Given the description of an element on the screen output the (x, y) to click on. 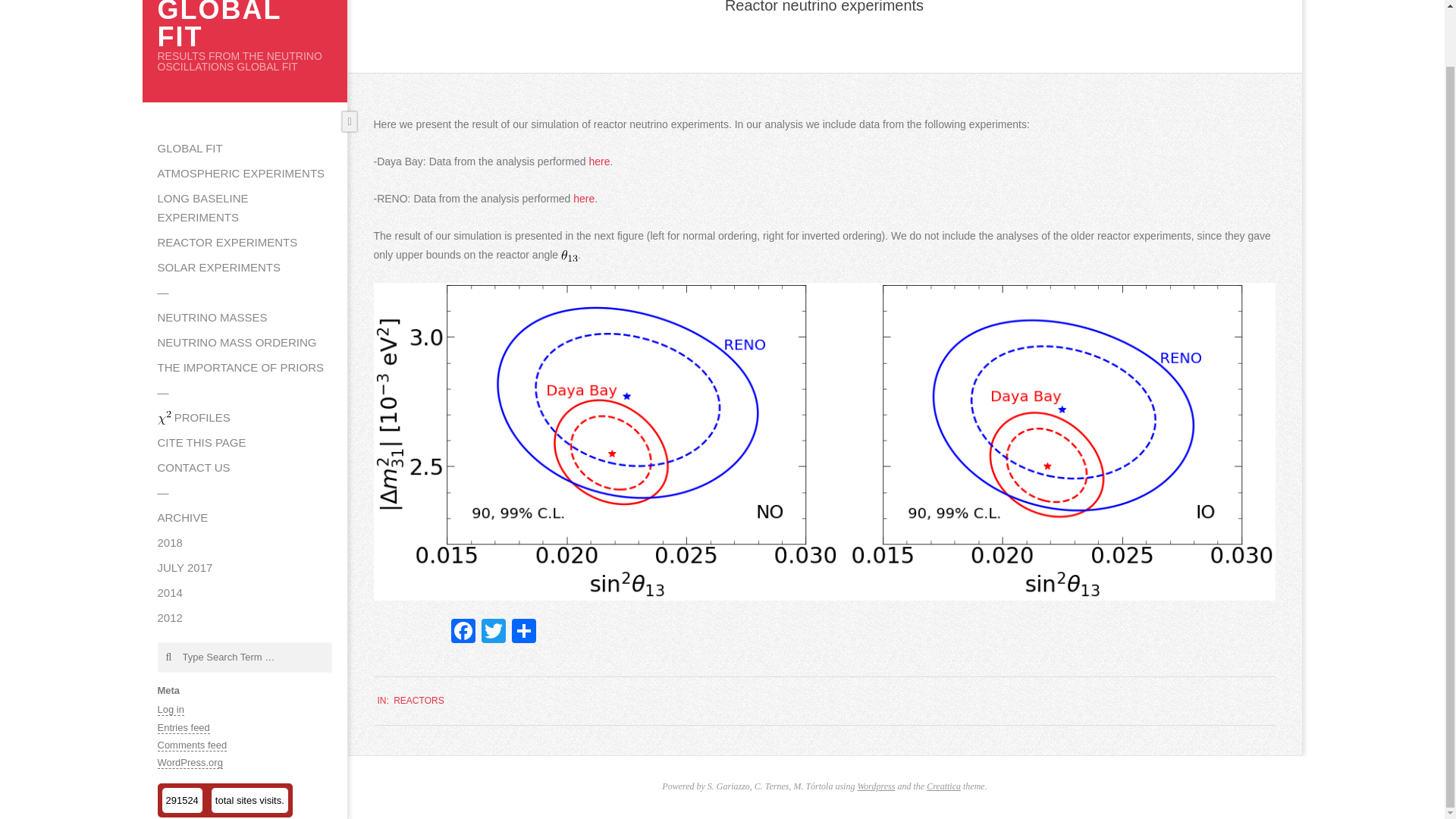
Facebook (461, 633)
Twitter (492, 633)
NEUTRINO GLOBAL FIT (235, 26)
2018 (244, 543)
Comments feed (192, 745)
CONTACT US (244, 467)
REACTORS (418, 700)
here (583, 198)
REACTOR EXPERIMENTS (244, 242)
Creattica (943, 786)
